Given the description of an element on the screen output the (x, y) to click on. 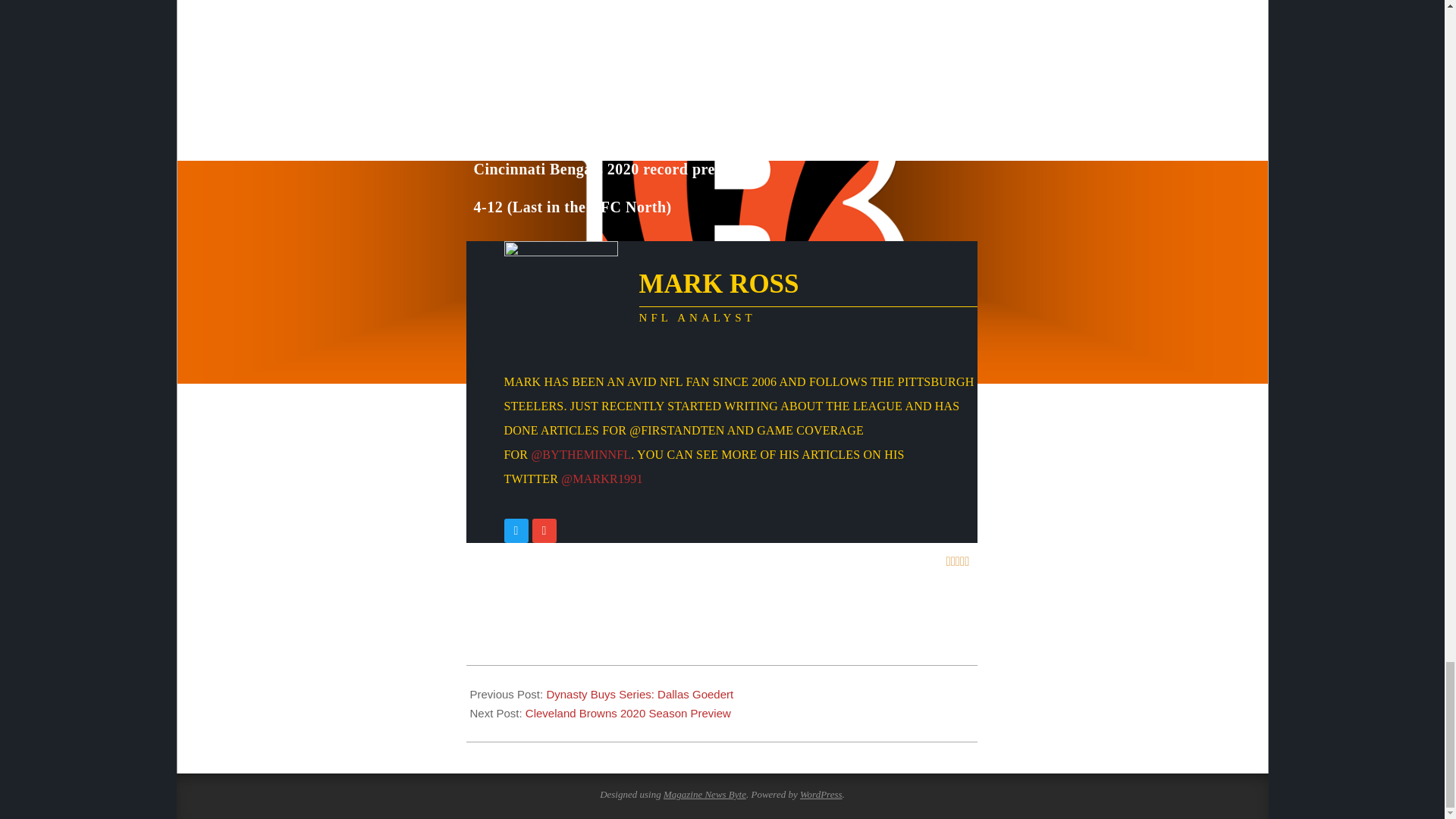
Dynasty Buys Series: Dallas Goedert (639, 694)
Cleveland Browns 2020 Season Preview (627, 712)
Magazine News Byte WordPress Theme (704, 794)
